Given the description of an element on the screen output the (x, y) to click on. 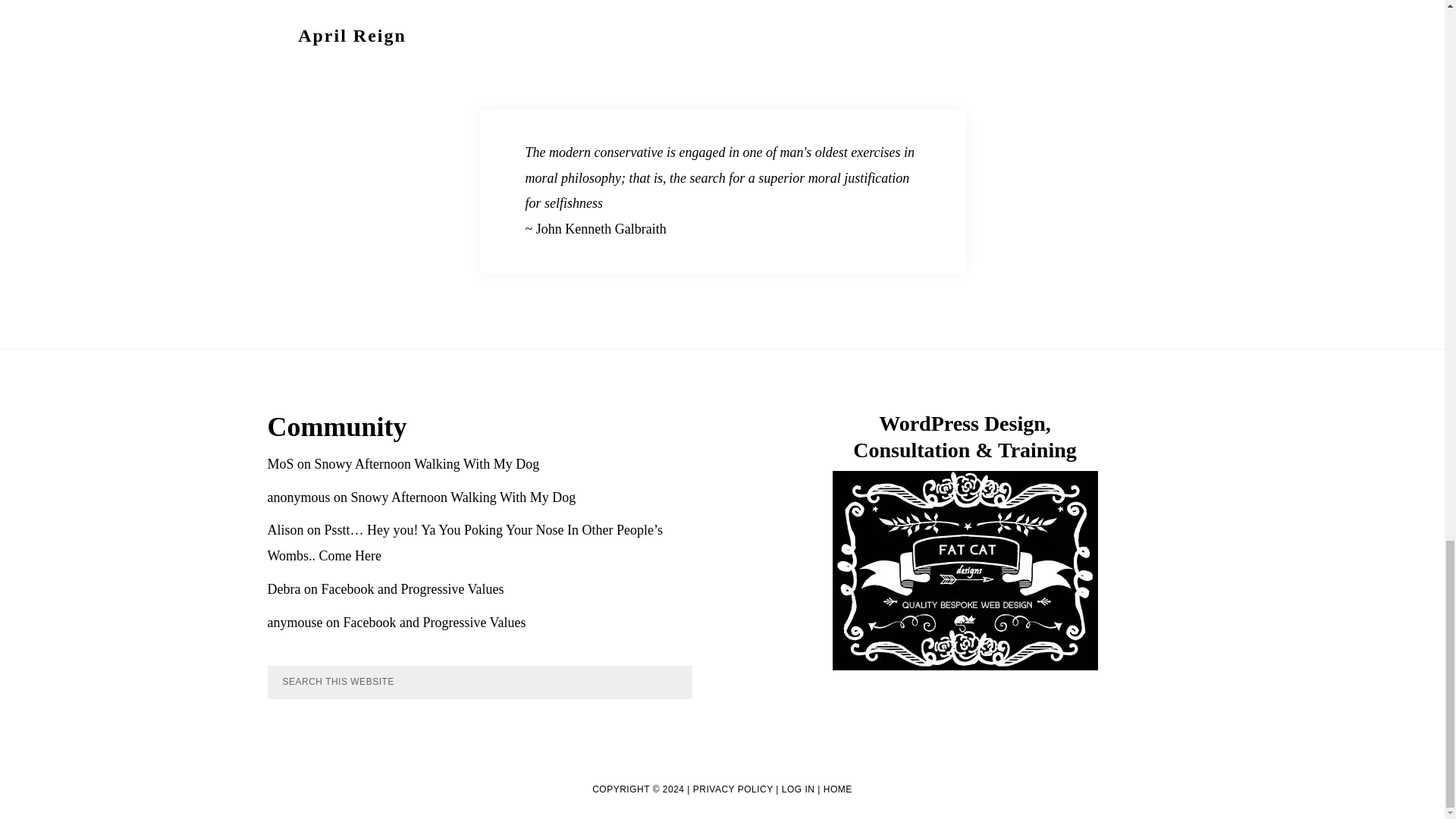
PRIVACY POLICY (733, 788)
Facebook and Progressive Values (411, 589)
HOME (837, 788)
Facebook and Progressive Values (433, 621)
Snowy Afternoon Walking With My Dog (462, 497)
Genesis theme by StudioPress (745, 29)
Snowy Afternoon Walking With My Dog (427, 463)
LOG IN (798, 788)
